Given the description of an element on the screen output the (x, y) to click on. 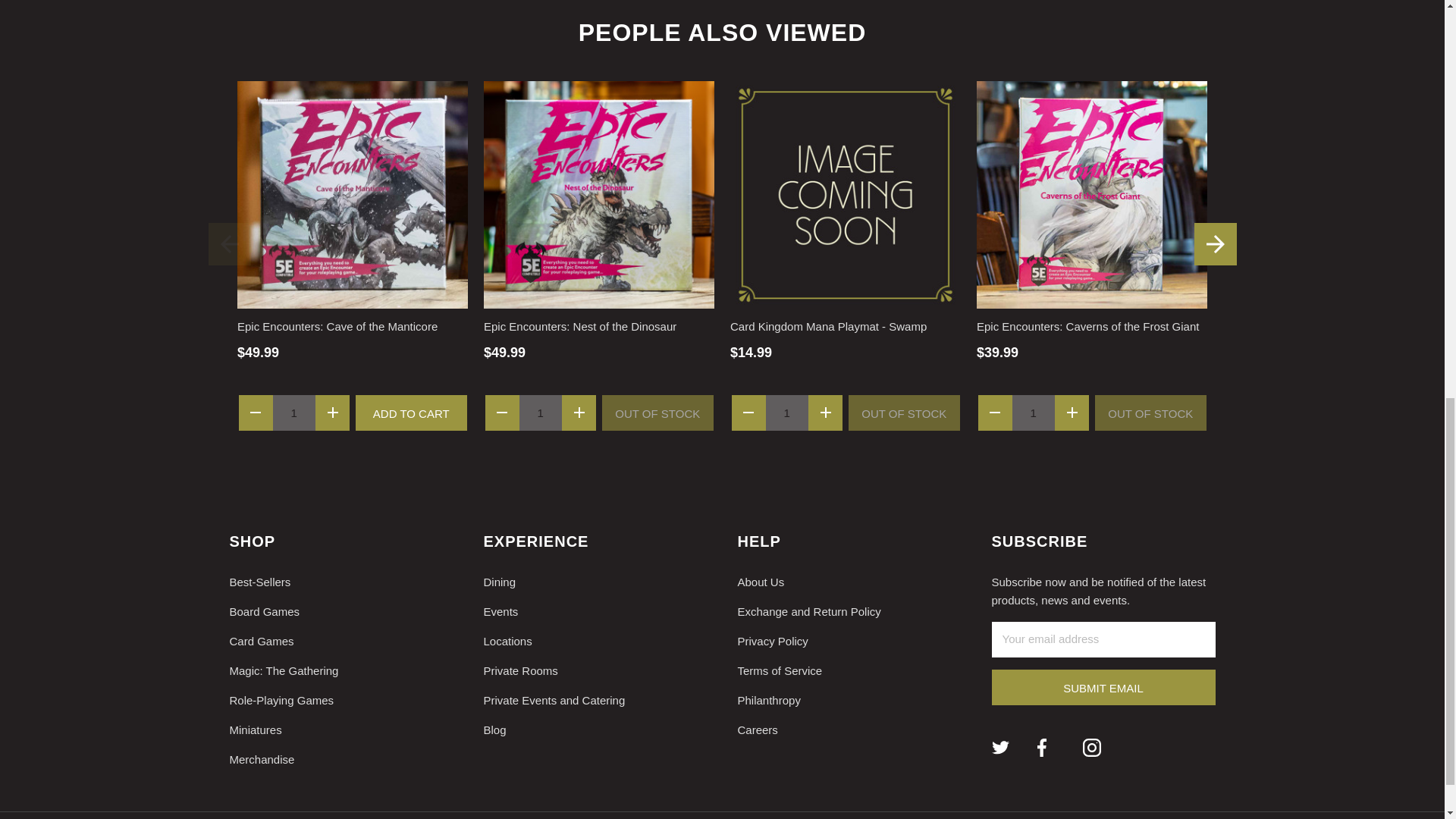
1 (540, 411)
Epic Encounters: Nest of the Dinosaur (598, 193)
Epic Encounters: Caverns of the Frost Giant (1091, 193)
Card Kingdom Mana Playmat - Swamp (845, 193)
Epic Encounters: Cave of the Manticore (352, 193)
1 (294, 411)
1 (1032, 411)
1 (787, 411)
Submit Email (1103, 686)
